Given the description of an element on the screen output the (x, y) to click on. 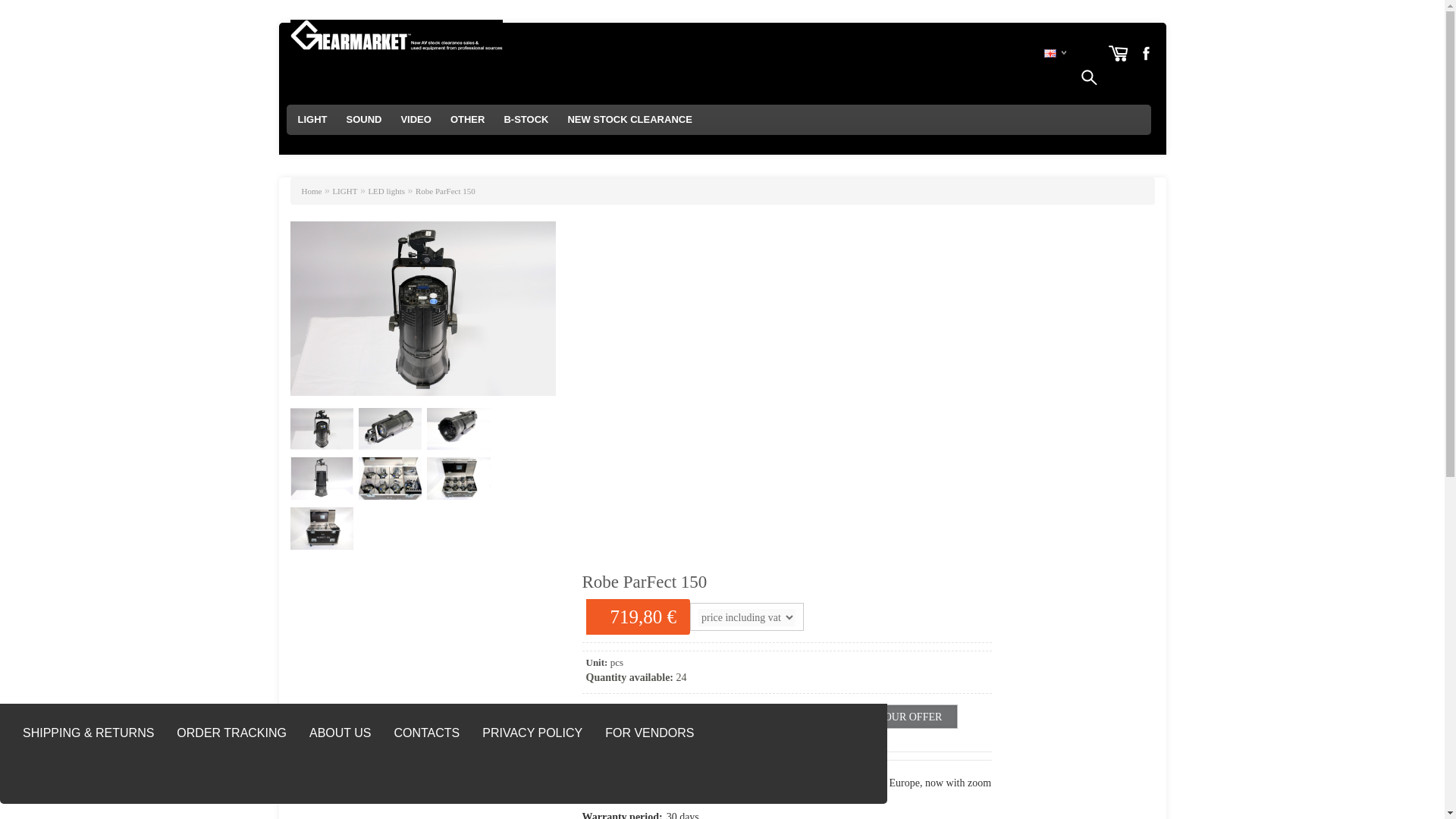
LIGHT (311, 119)
23003 - 7.jpeg (390, 428)
23003 - 4.jpeg (320, 478)
B-STOCK (526, 119)
23003 - 5.jpeg (421, 308)
OTHER (467, 119)
23003 - 6.jpeg (457, 428)
23003 - 5.jpeg (320, 428)
SOUND (362, 119)
23003 - 2.jpeg (457, 478)
VIDEO (415, 119)
23003 - 1.jpeg (390, 478)
1 (627, 716)
